Given the description of an element on the screen output the (x, y) to click on. 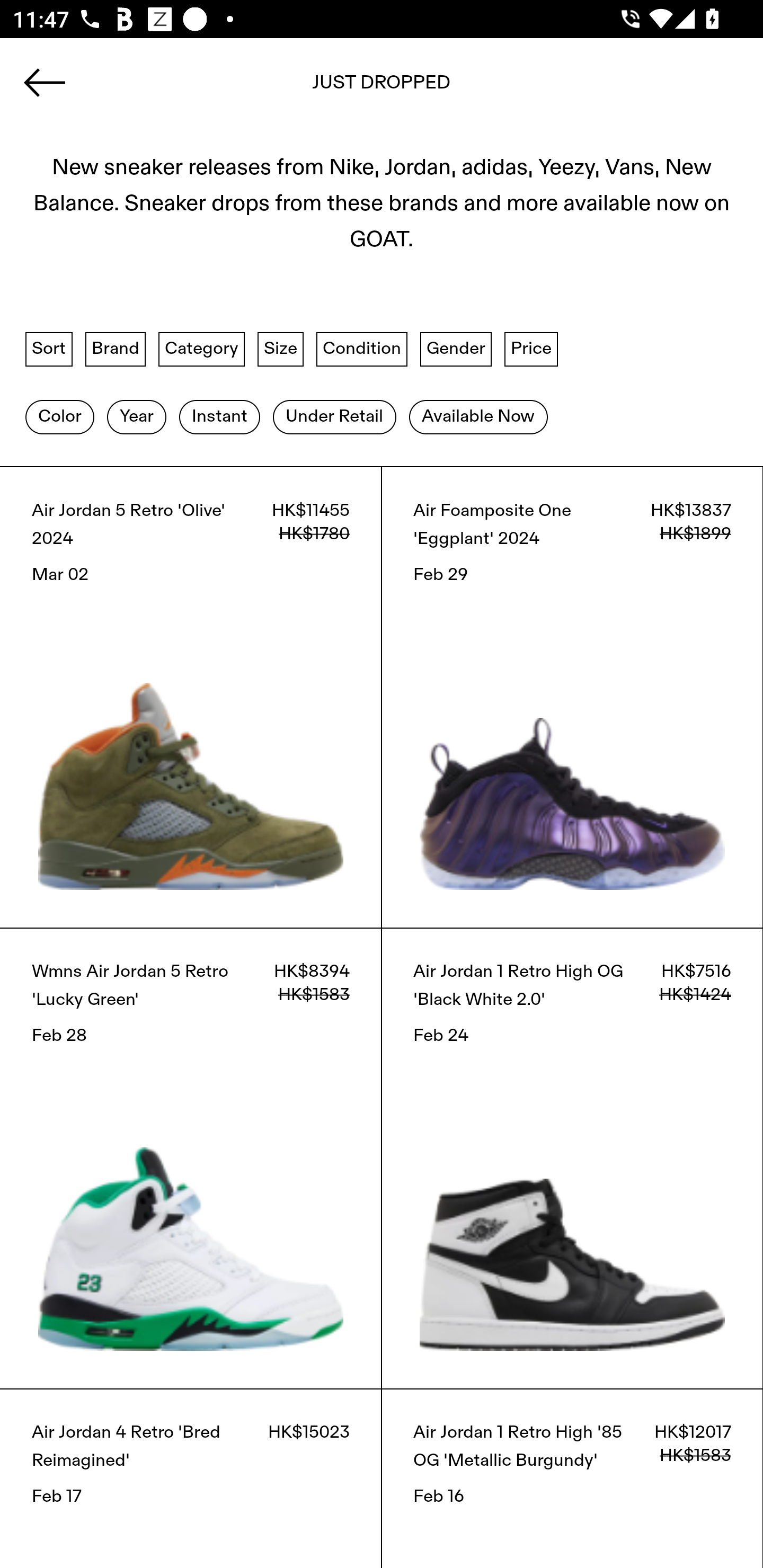
Search (381, 88)
Sort (48, 348)
Brand (115, 348)
Category (201, 348)
Size (280, 348)
Condition (361, 348)
Gender (455, 348)
Price (530, 348)
Color (59, 416)
Year (136, 416)
Instant (219, 416)
Under Retail (334, 416)
Available Now (477, 416)
